Given the description of an element on the screen output the (x, y) to click on. 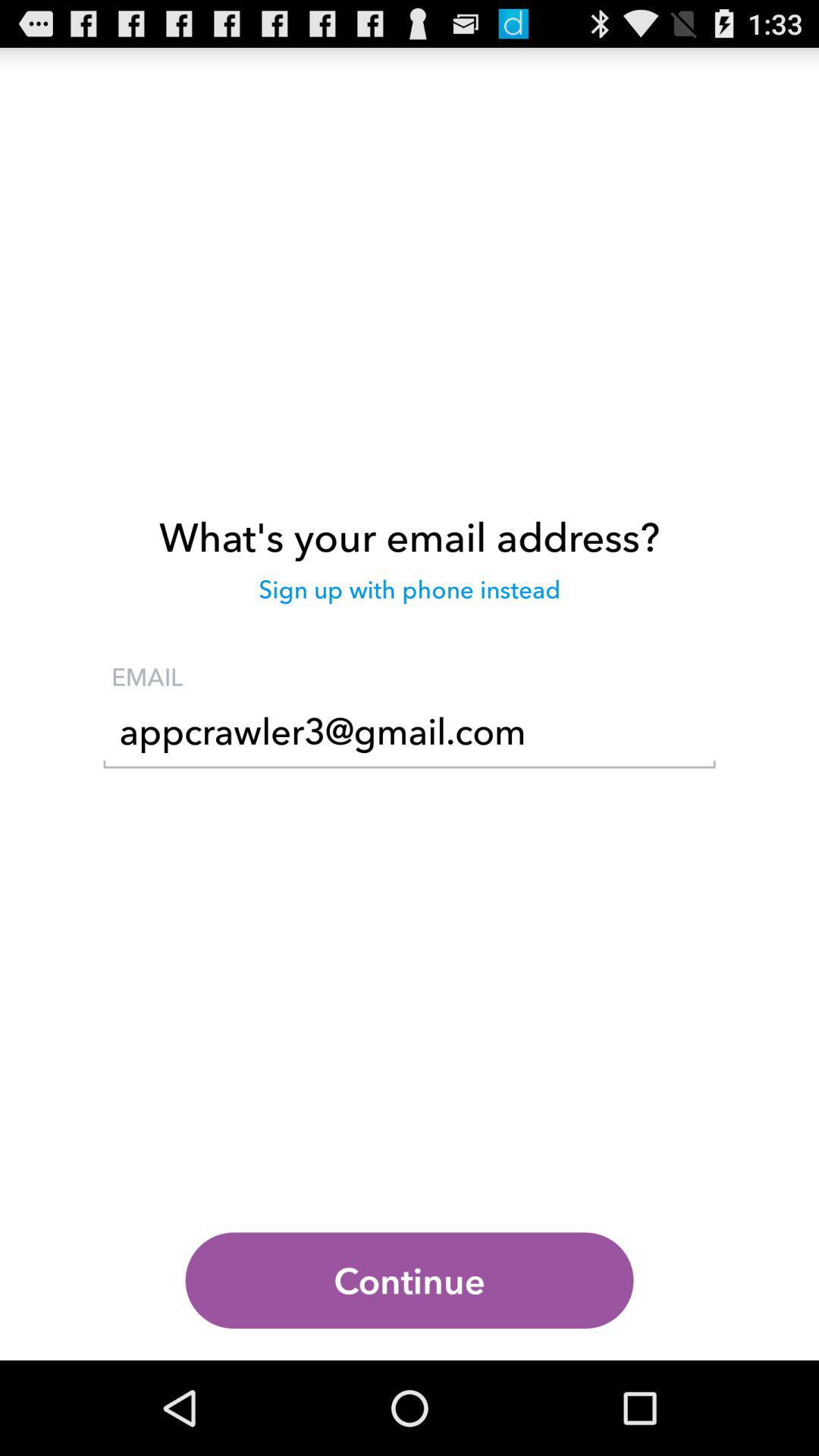
press the item above the continue icon (409, 736)
